Given the description of an element on the screen output the (x, y) to click on. 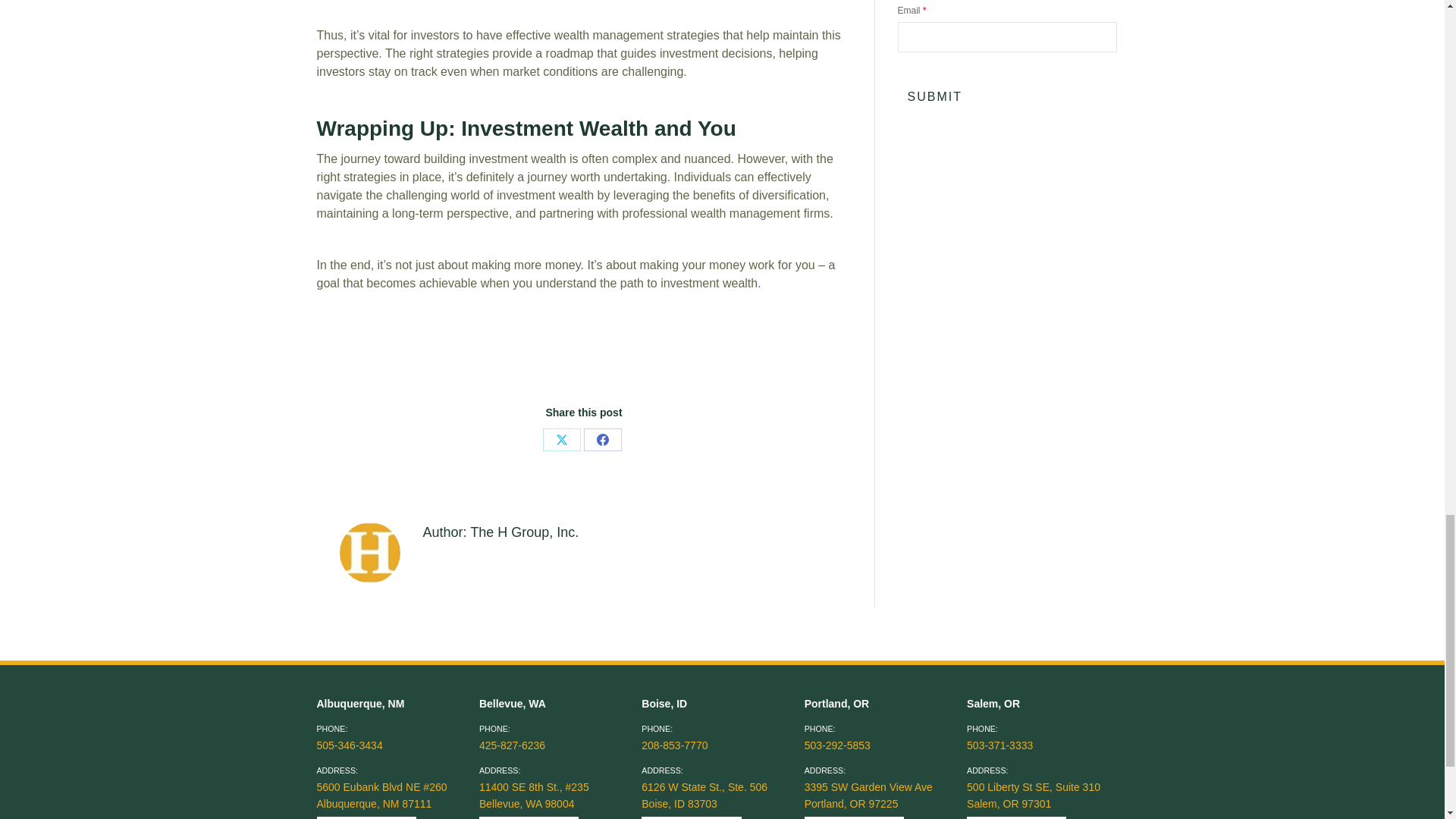
X (561, 439)
Facebook (602, 439)
